Given the description of an element on the screen output the (x, y) to click on. 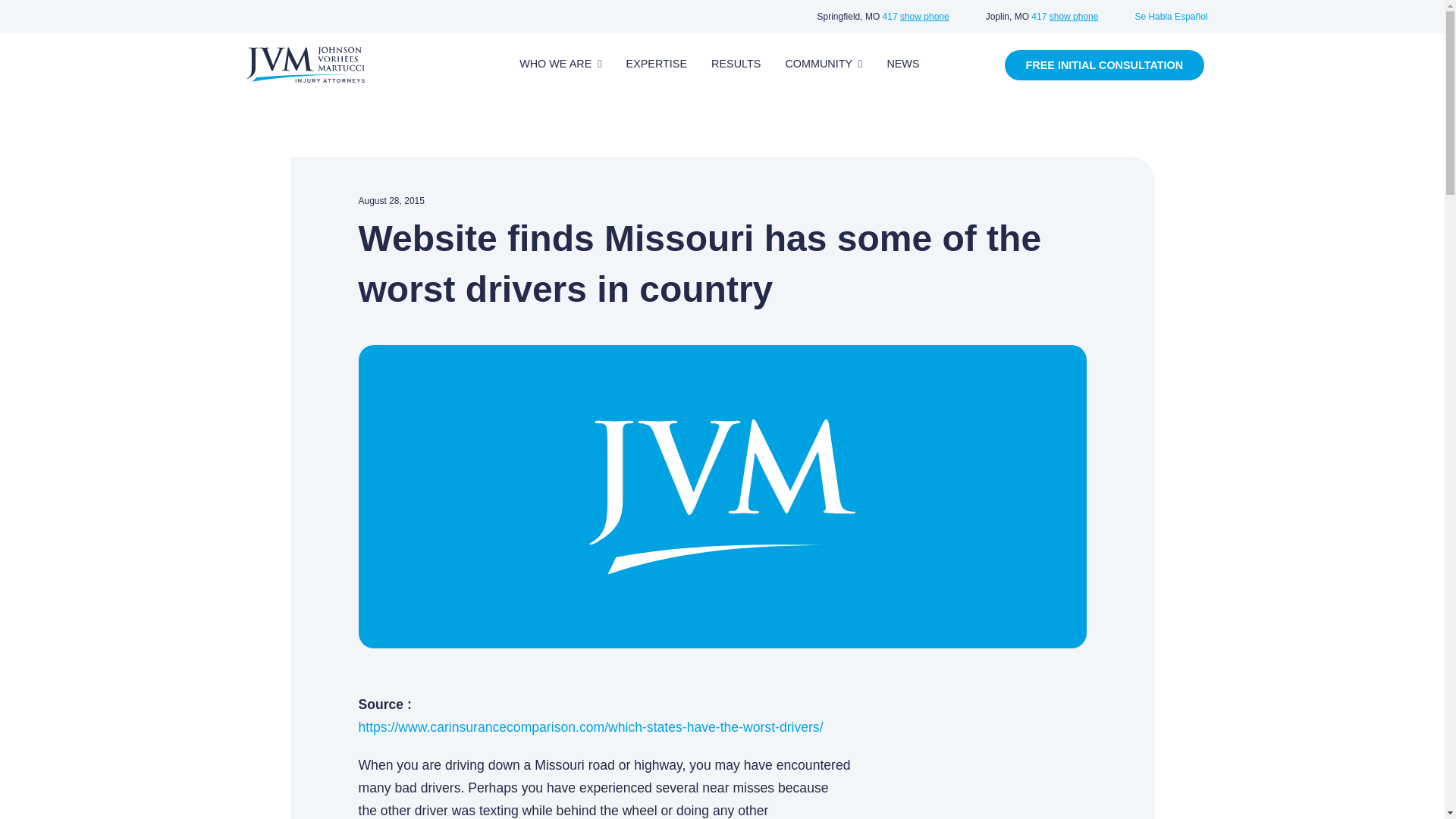
EXPERTISE (657, 64)
WHO WE ARE (559, 64)
FREE INITIAL CONSULTATION (1104, 64)
NEWS (903, 64)
RESULTS (735, 64)
COMMUNITY (824, 64)
